Given the description of an element on the screen output the (x, y) to click on. 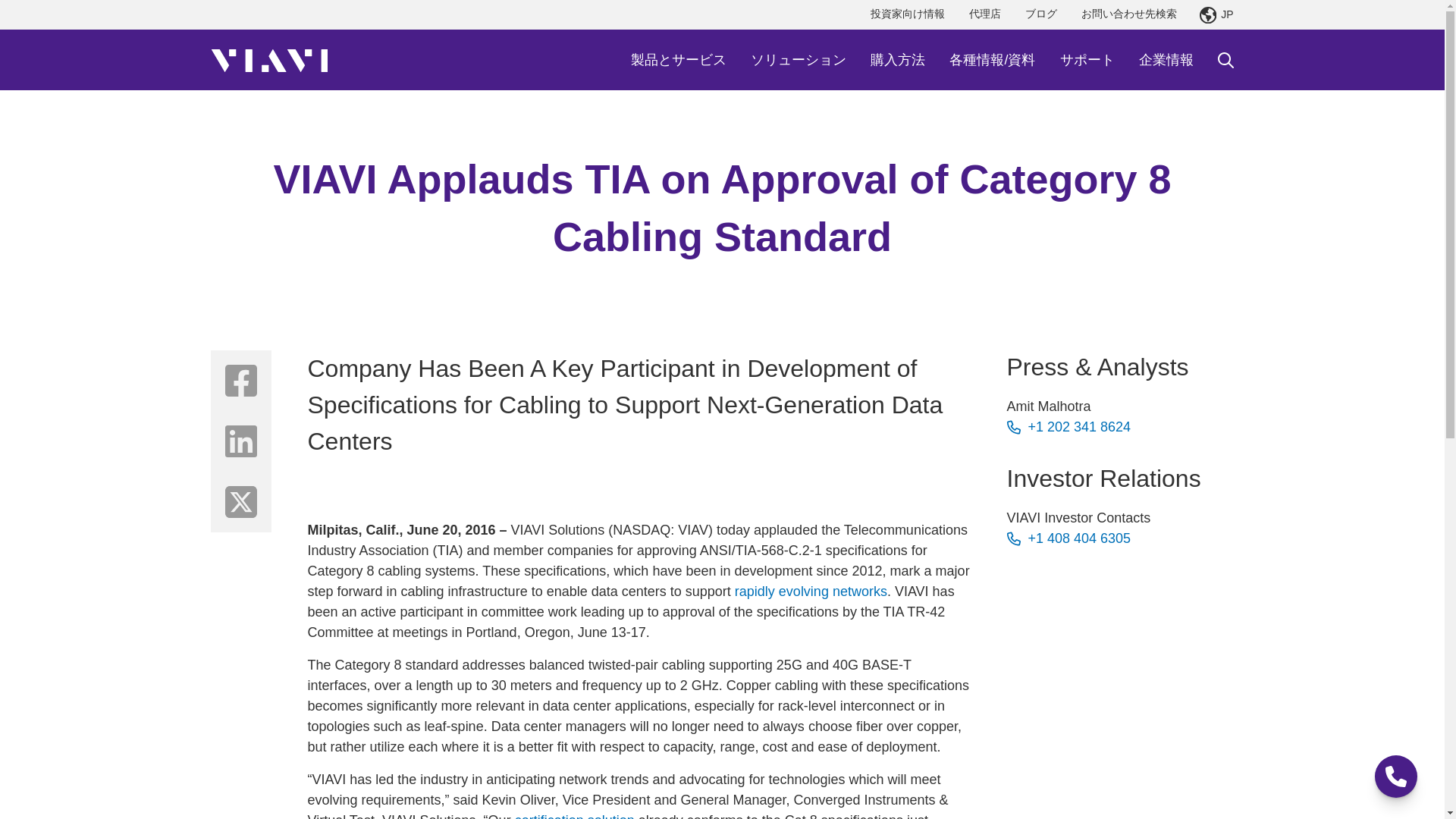
VIAVI Solutions (269, 59)
JP (1216, 15)
